Given the description of an element on the screen output the (x, y) to click on. 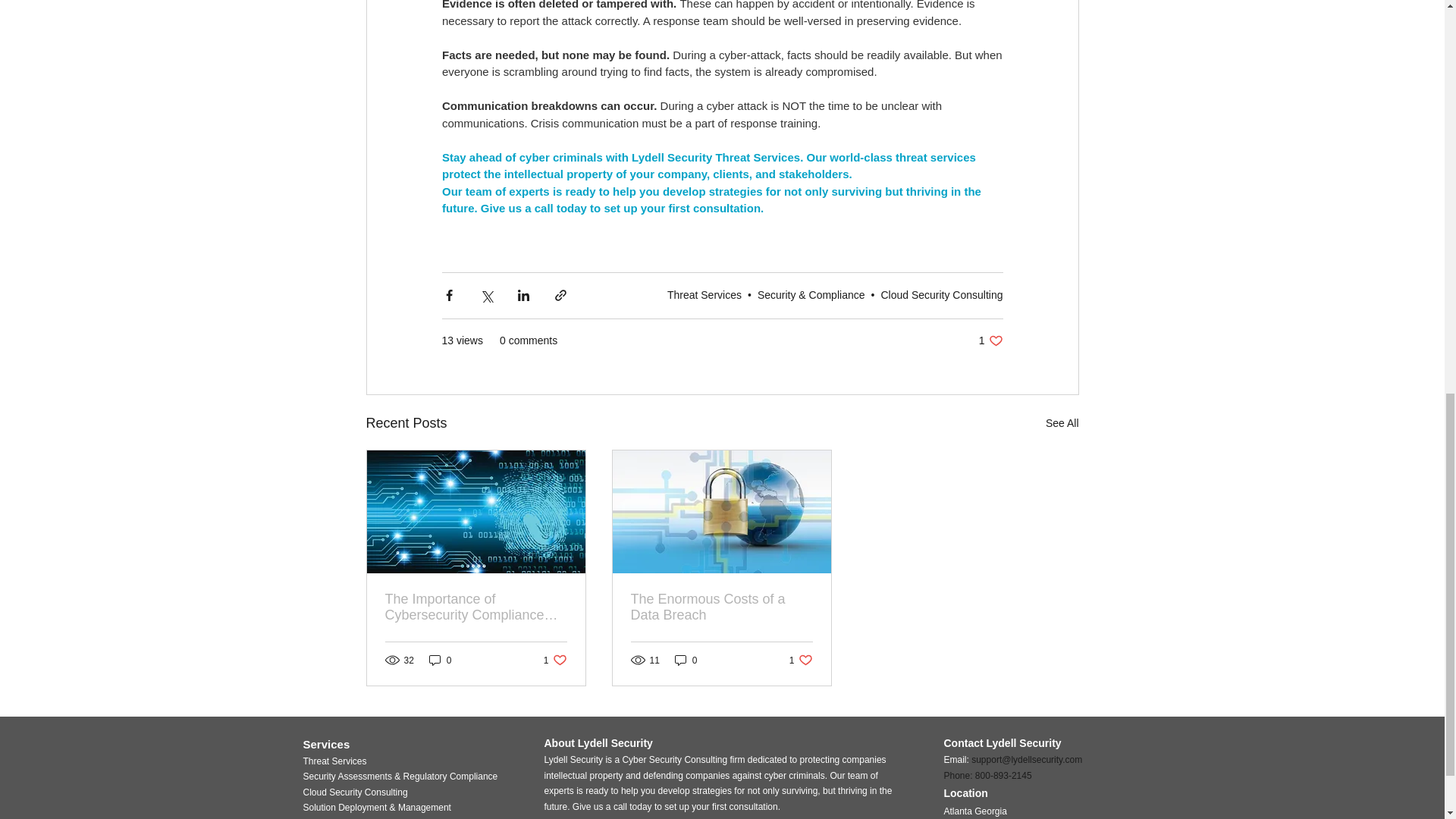
The Importance of Cybersecurity Compliance Training (476, 607)
The Enormous Costs of a Data Breach (800, 659)
See All (721, 607)
0 (1061, 423)
Cloud Security Consulting (685, 659)
Threat Services (990, 340)
0 (941, 295)
Email: (703, 295)
